Given the description of an element on the screen output the (x, y) to click on. 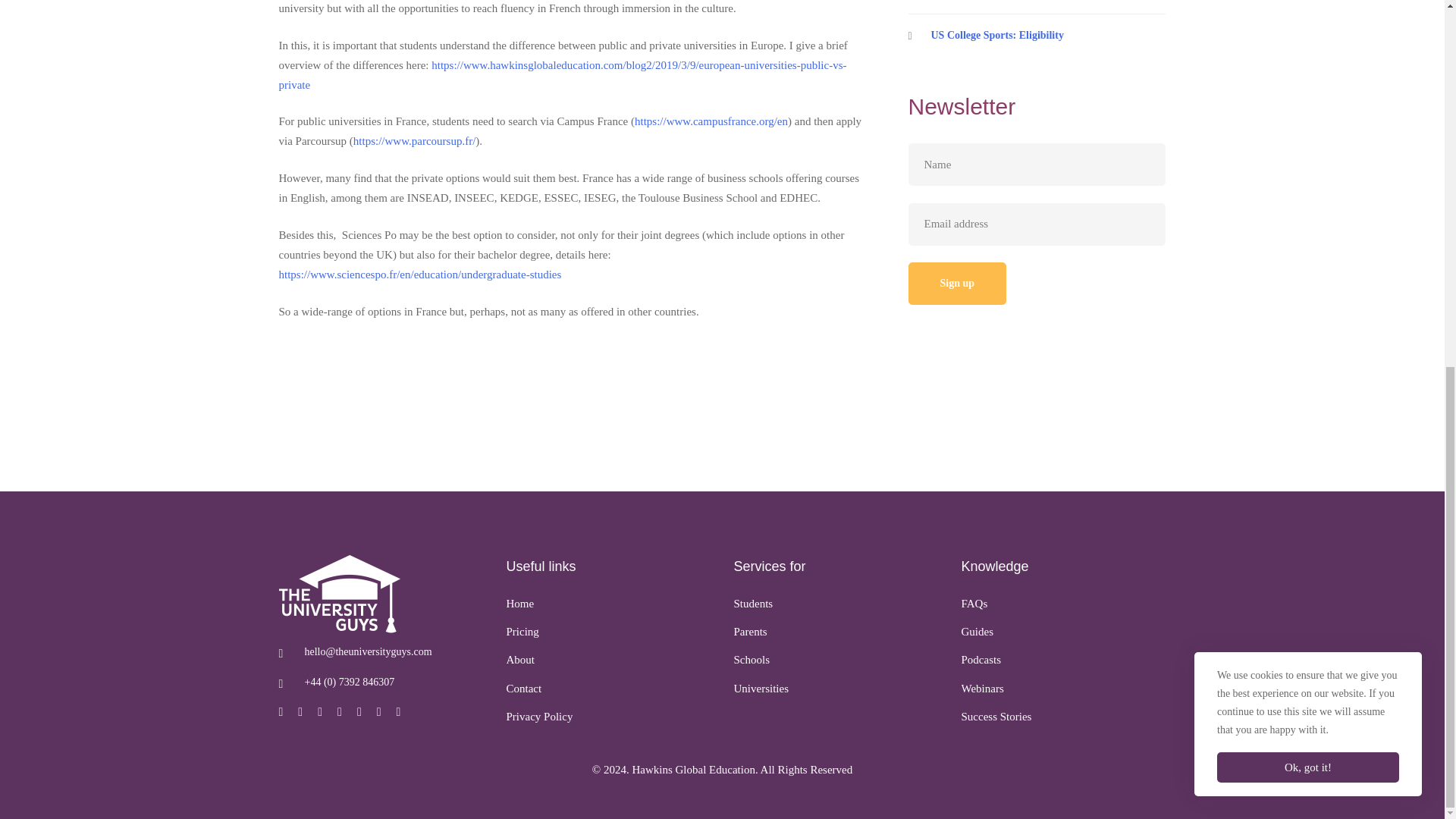
Sign up (957, 283)
Sign up (957, 283)
Podcast Episode 77: Rugby at universities in the USA (1037, 7)
US College Sports: Eligibility (1037, 35)
